Given the description of an element on the screen output the (x, y) to click on. 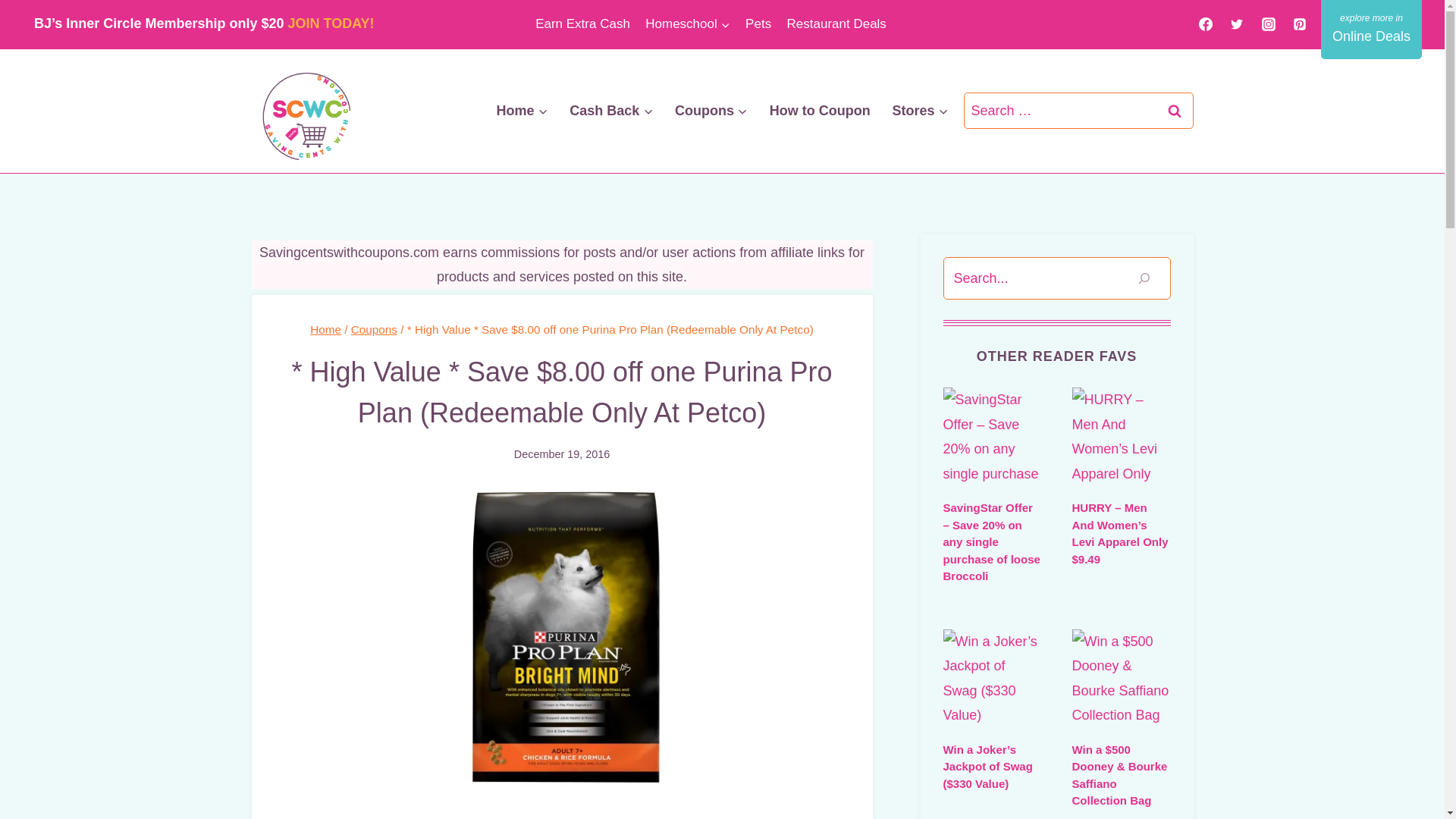
JOIN TODAY! (330, 23)
Coupons (710, 110)
Search (1174, 110)
Homeschool (687, 24)
Online Deals (1371, 29)
Search (1174, 110)
Cash Back (611, 110)
Earn Extra Cash (582, 24)
Home (521, 110)
Stores (919, 110)
How to Coupon (819, 110)
Restaurant Deals (835, 24)
Pets (758, 24)
